Given the description of an element on the screen output the (x, y) to click on. 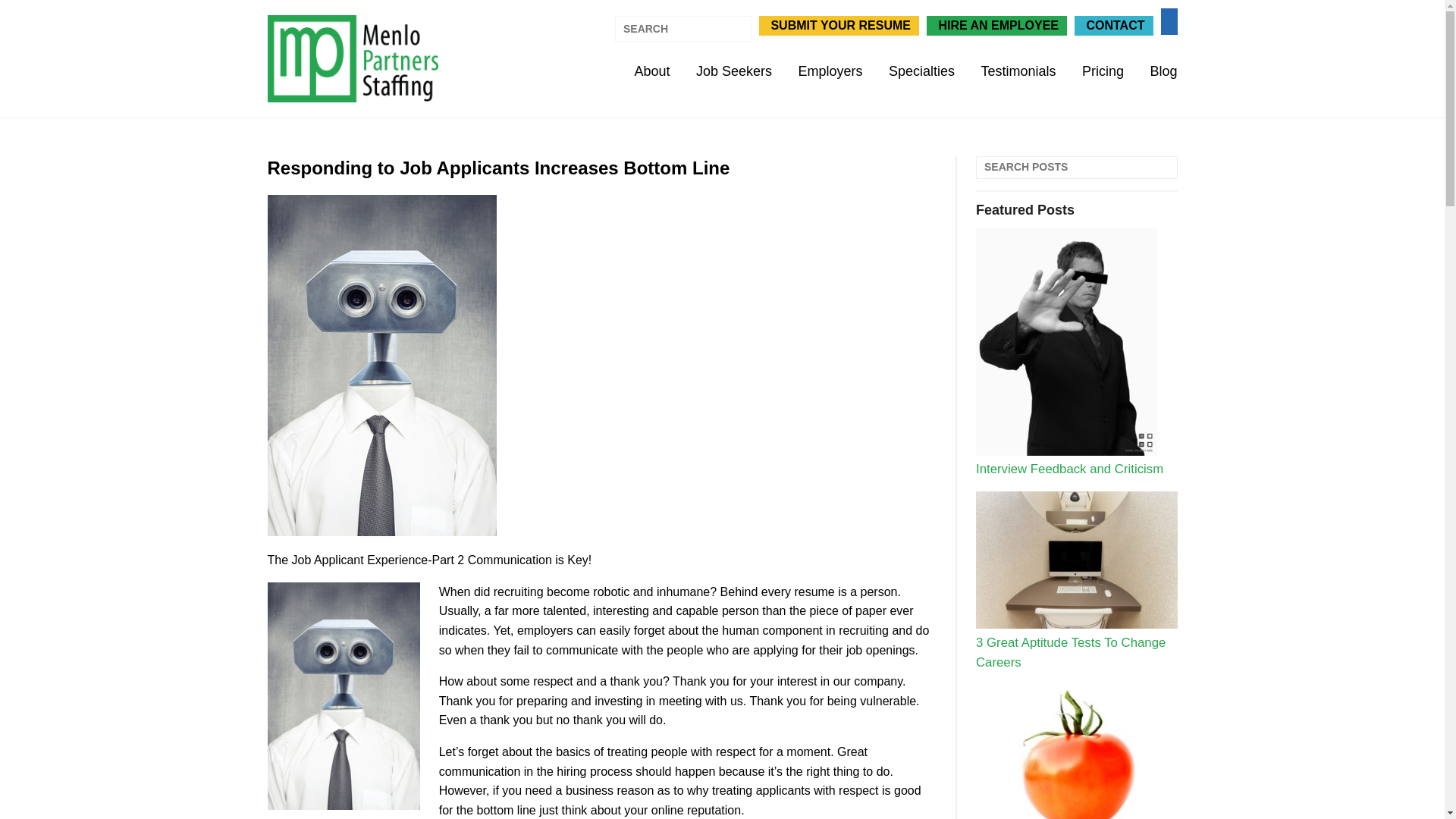
Testimonials (1017, 71)
Blog (1163, 71)
HIRE AN EMPLOYEE (996, 25)
SUBMIT YOUR RESUME (839, 25)
Employers (829, 71)
Specialties (921, 71)
Job Seekers (733, 71)
About (651, 71)
Pricing (1102, 71)
CONTACT (1113, 25)
